Given the description of an element on the screen output the (x, y) to click on. 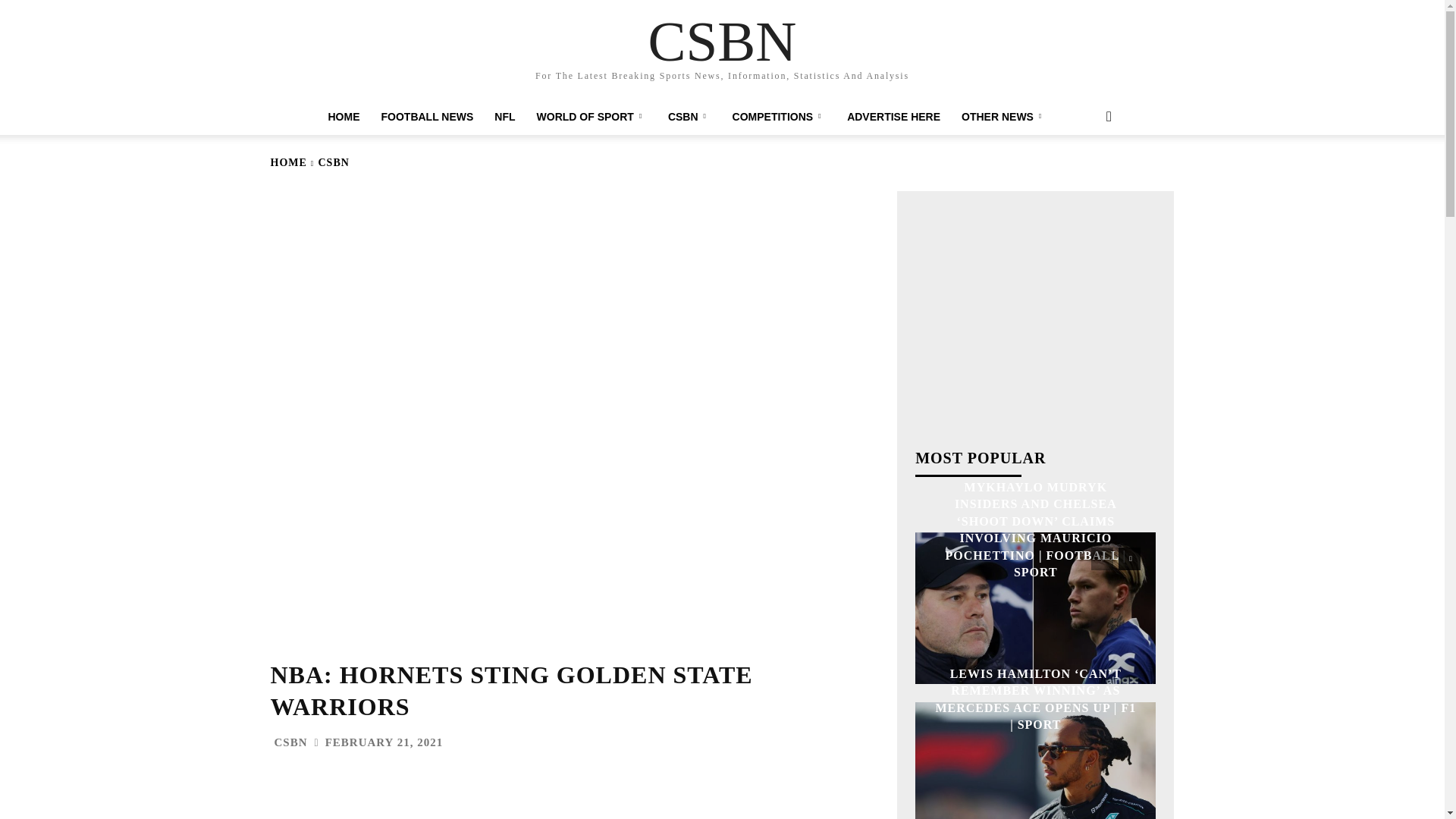
COMPETITIONS (779, 116)
CSBN (721, 41)
ADVERTISE HERE (892, 116)
FOOTBALL NEWS (426, 116)
OTHER NEWS (1003, 116)
HOME (343, 116)
CSBN (690, 116)
WORLD OF SPORT (591, 116)
NFL (504, 116)
View all posts in csbn (333, 162)
